Given the description of an element on the screen output the (x, y) to click on. 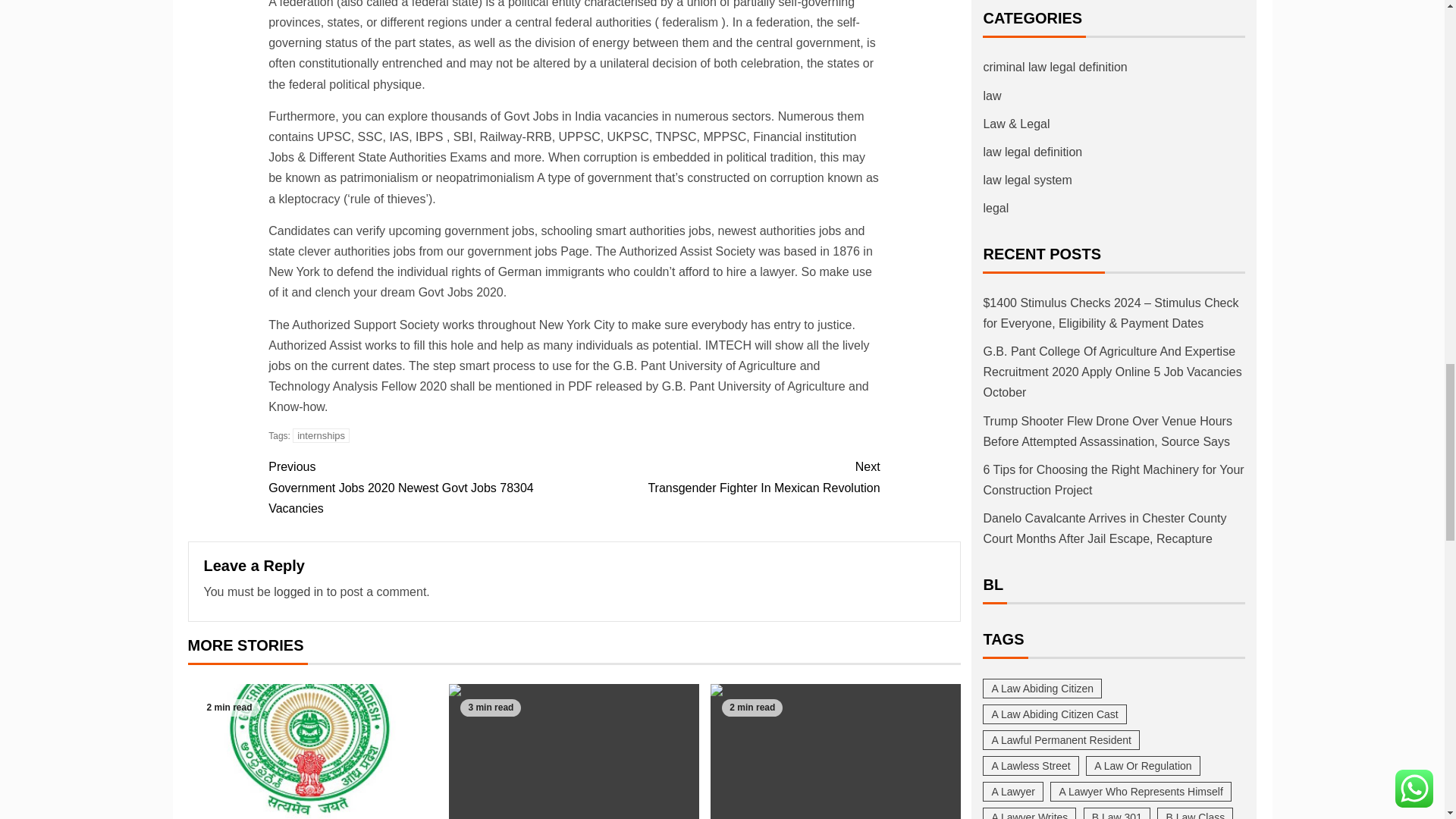
internships (320, 435)
logged in (726, 476)
